Given the description of an element on the screen output the (x, y) to click on. 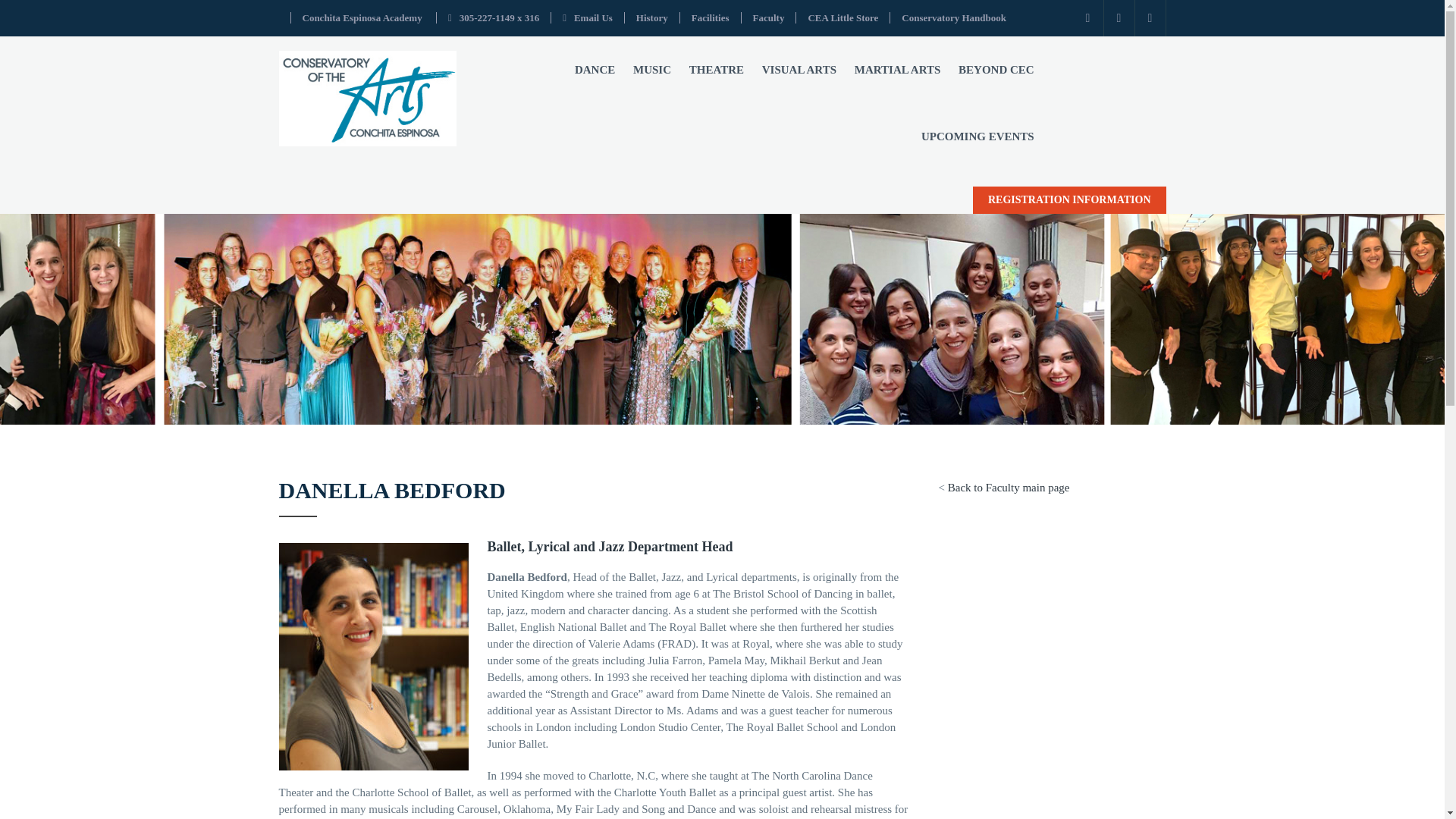
Conservatory Handbook (953, 17)
UPCOMING EVENTS (978, 136)
REGISTRATION INFORMATION (1069, 199)
CEA Little Store (842, 17)
Email Us (587, 17)
BEYOND CEC (996, 69)
History (652, 17)
MARTIAL ARTS (898, 69)
VISUAL ARTS (799, 69)
Facilities (710, 17)
THEATRE (716, 69)
Conchita Espinosa Academy (361, 17)
Back to Faculty main page (1008, 487)
Faculty (768, 17)
